Given the description of an element on the screen output the (x, y) to click on. 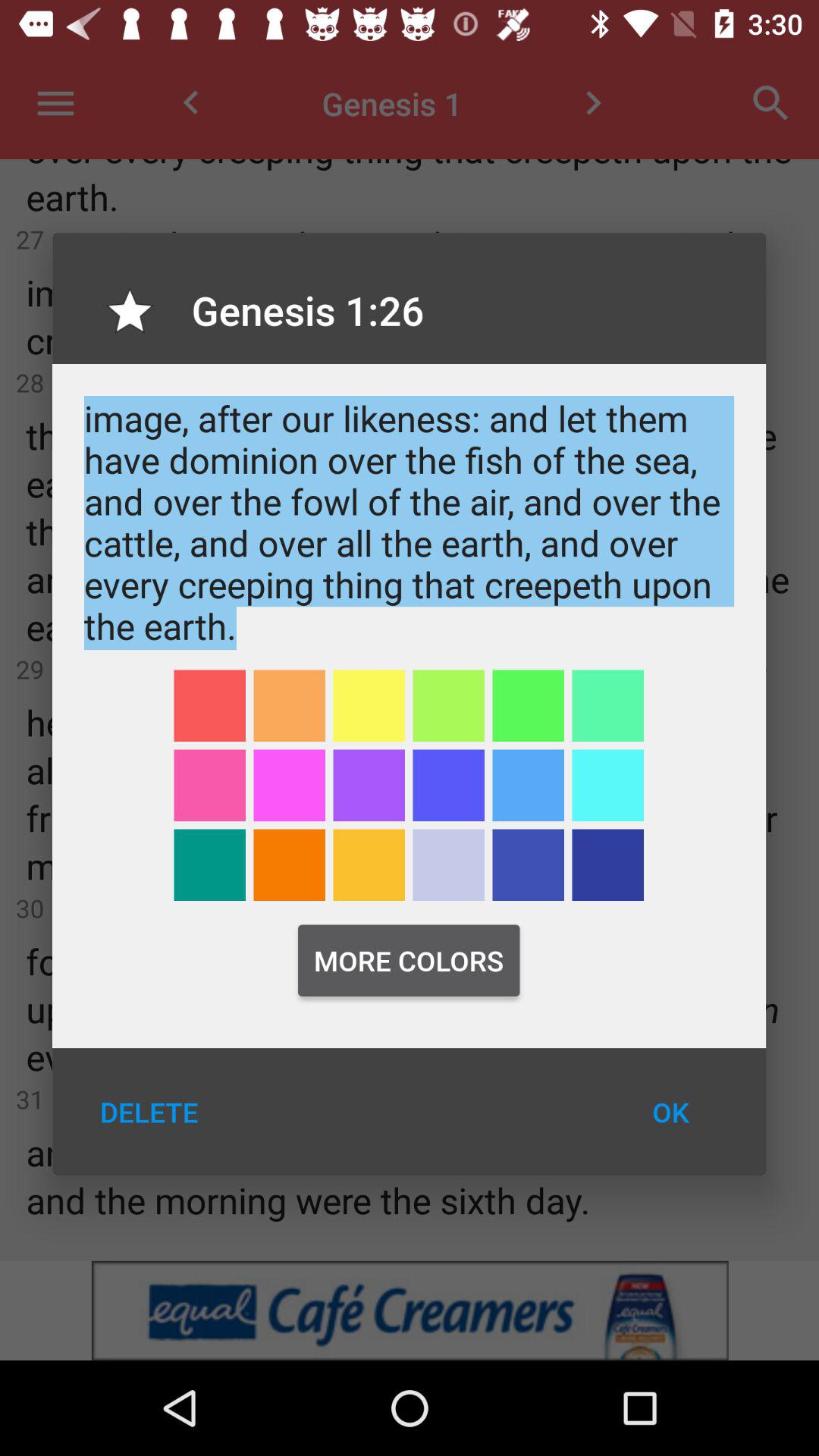
select orange (289, 705)
